Given the description of an element on the screen output the (x, y) to click on. 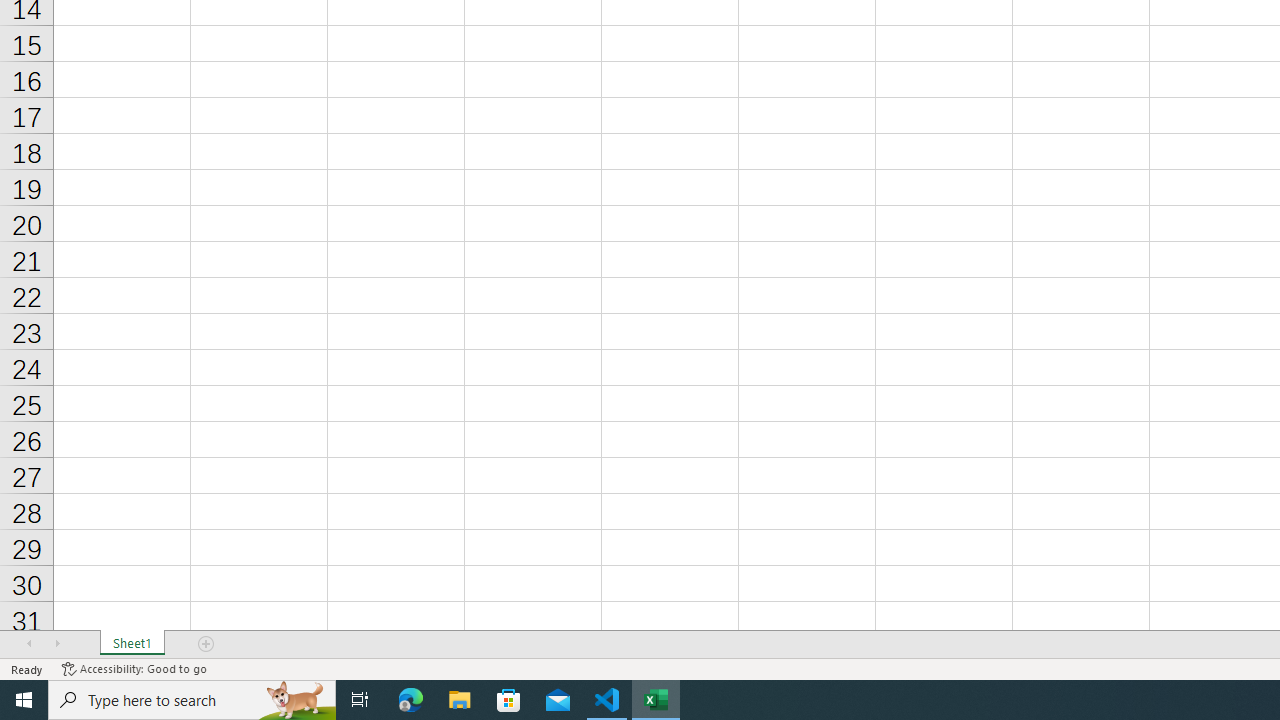
Accessibility Checker Accessibility: Good to go (134, 668)
Scroll Left (29, 644)
Add Sheet (207, 644)
Sheet1 (132, 644)
Scroll Right (57, 644)
